Given the description of an element on the screen output the (x, y) to click on. 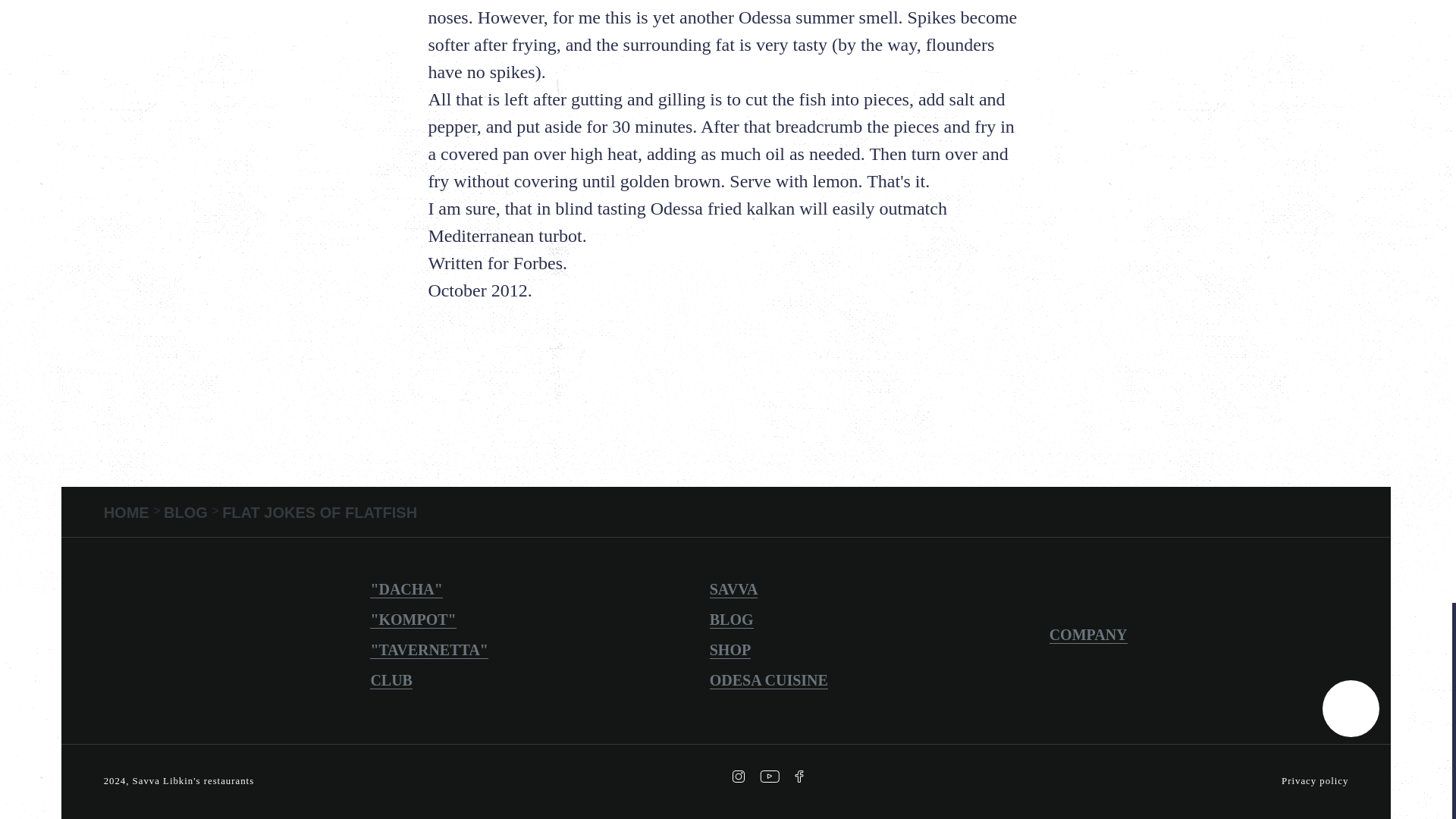
BLOG (732, 619)
"DACHA" (405, 589)
FLAT JOKES OF FLATFISH (319, 512)
"TAVERNETTA" (428, 650)
HOME (128, 512)
COMPANY (1087, 634)
"KOMPOT" (412, 619)
BLOG (187, 512)
SAVVA (734, 589)
CLUB (390, 680)
SHOP (730, 650)
ODESA CUISINE (769, 680)
